Given the description of an element on the screen output the (x, y) to click on. 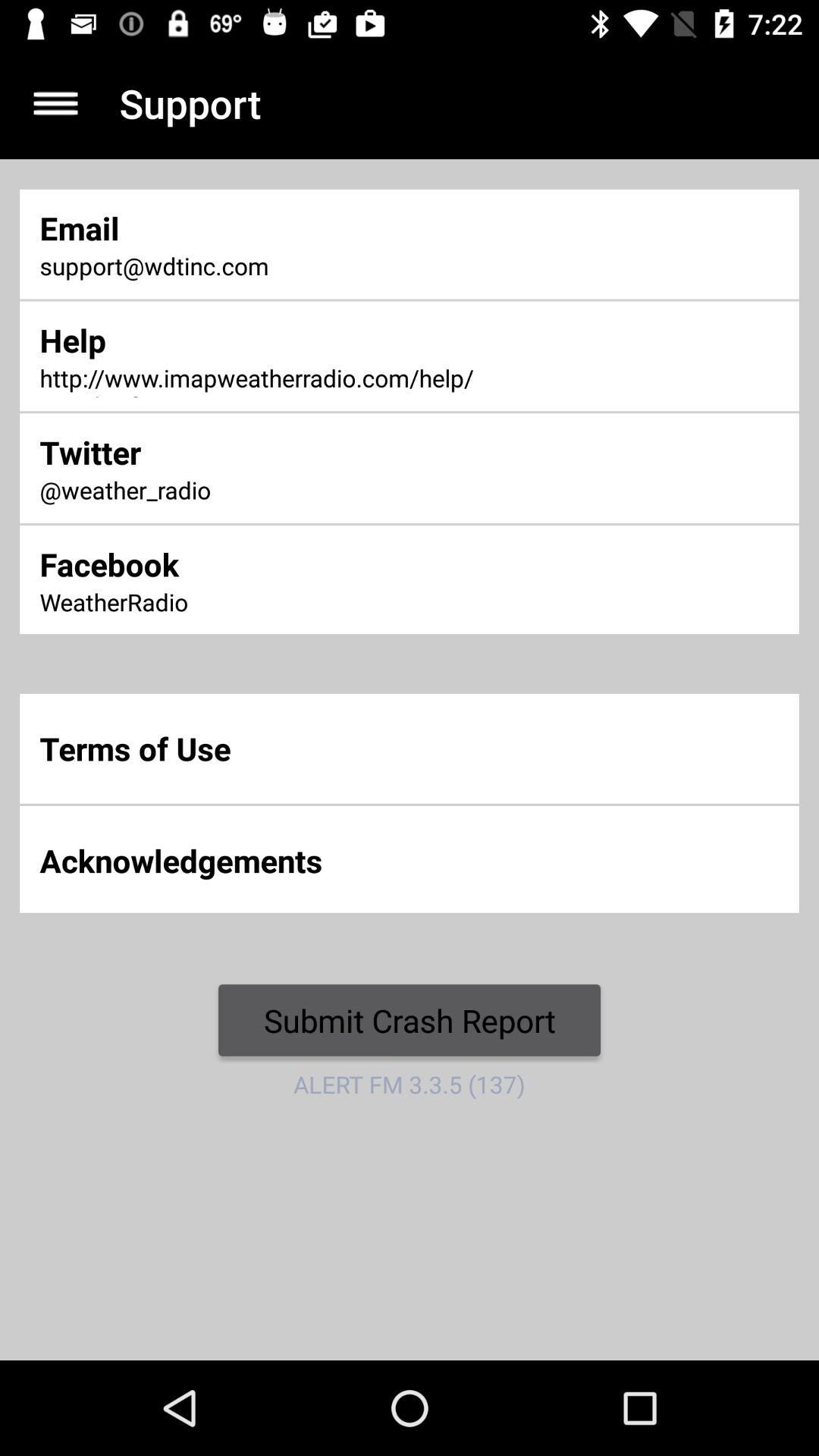
open menubar (55, 103)
